Given the description of an element on the screen output the (x, y) to click on. 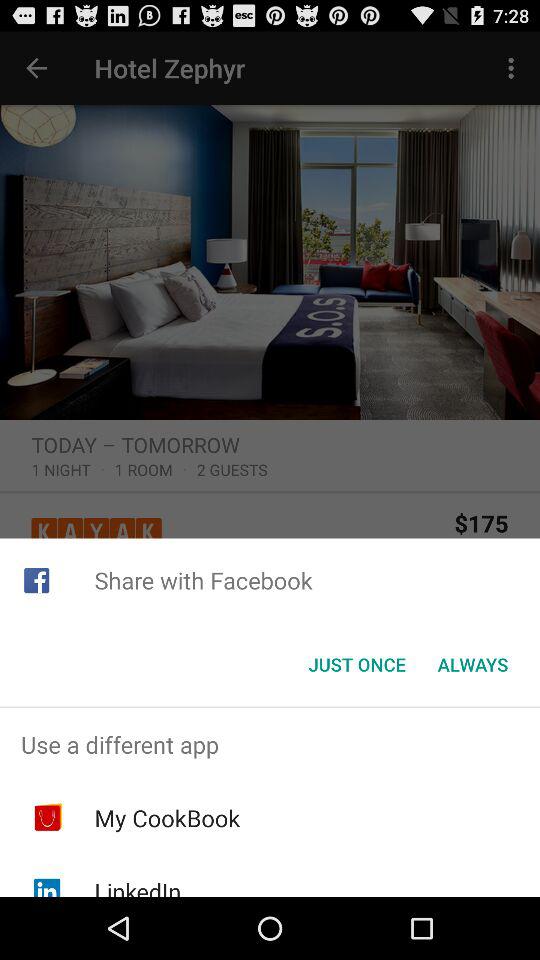
turn on my cookbook app (167, 817)
